Given the description of an element on the screen output the (x, y) to click on. 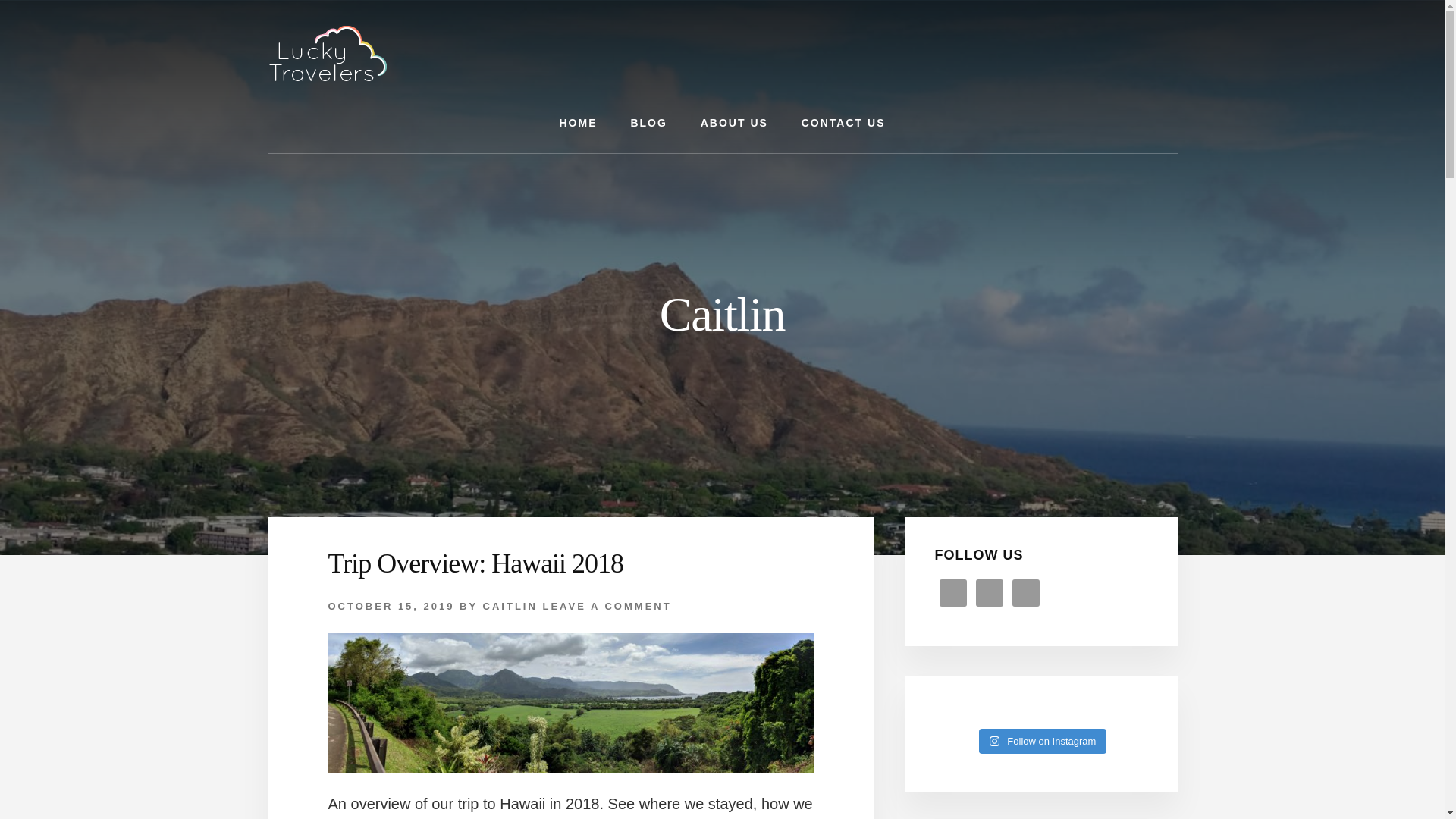
LEAVE A COMMENT (606, 605)
Trip Overview: Hawaii 2018 (475, 562)
HOME (578, 123)
ABOUT US (734, 123)
CAITLIN (510, 605)
Follow on Instagram (1042, 741)
CONTACT US (843, 123)
BLOG (647, 123)
